Given the description of an element on the screen output the (x, y) to click on. 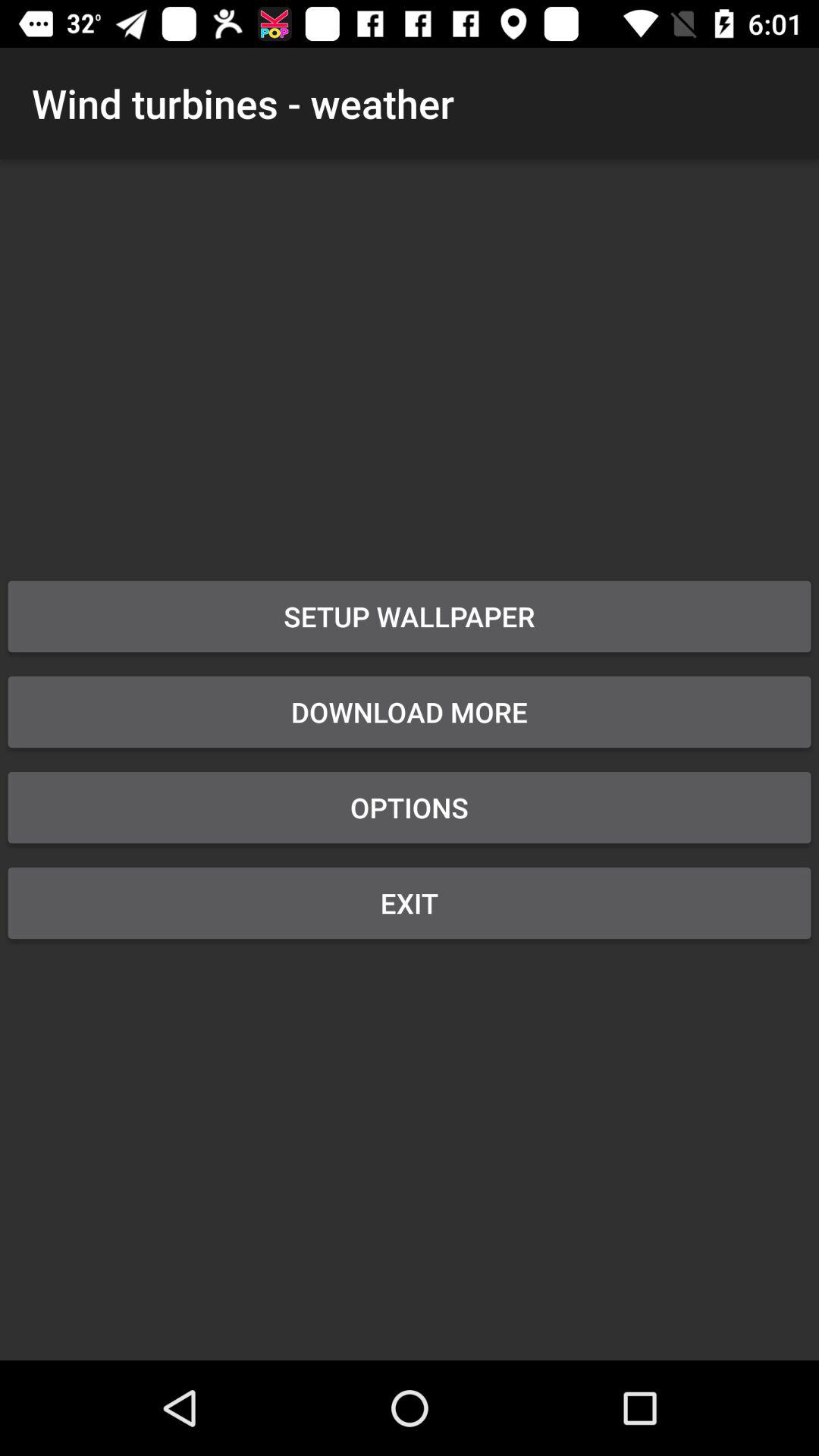
choose item below the download more icon (409, 807)
